Given the description of an element on the screen output the (x, y) to click on. 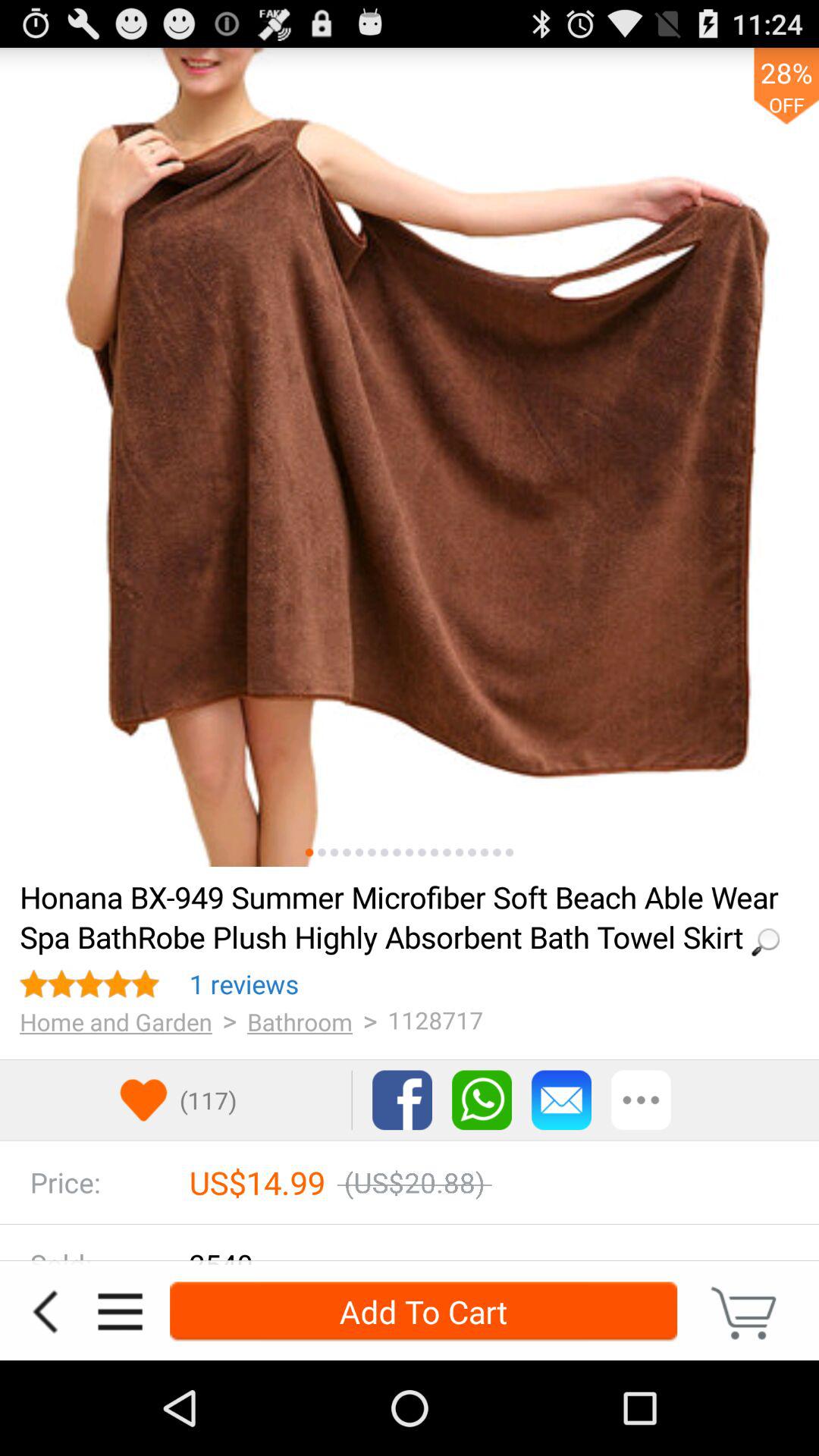
like on facebook (402, 1100)
